Given the description of an element on the screen output the (x, y) to click on. 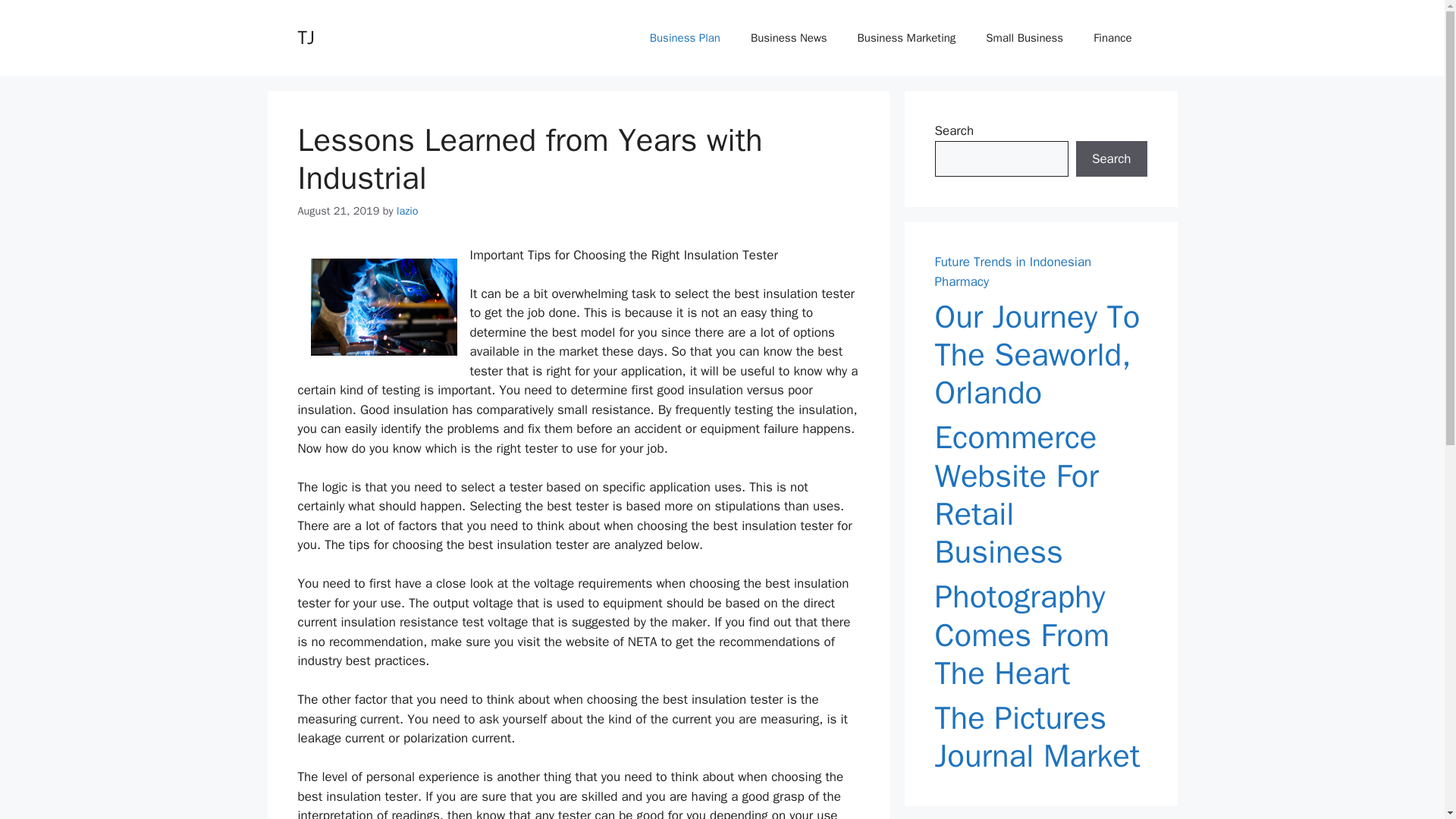
View all posts by lazio (407, 210)
Small Business (1024, 37)
lazio (407, 210)
Business Marketing (907, 37)
Our Journey To The Seaworld, Orlando (1040, 354)
Photography Comes From The Heart (1040, 635)
Ecommerce Website For Retail Business (1040, 494)
Future Trends in Indonesian Pharmacy (1012, 271)
Business Plan (684, 37)
Business News (789, 37)
Search (1111, 158)
The Pictures Journal Market (1040, 737)
Finance (1112, 37)
